Given the description of an element on the screen output the (x, y) to click on. 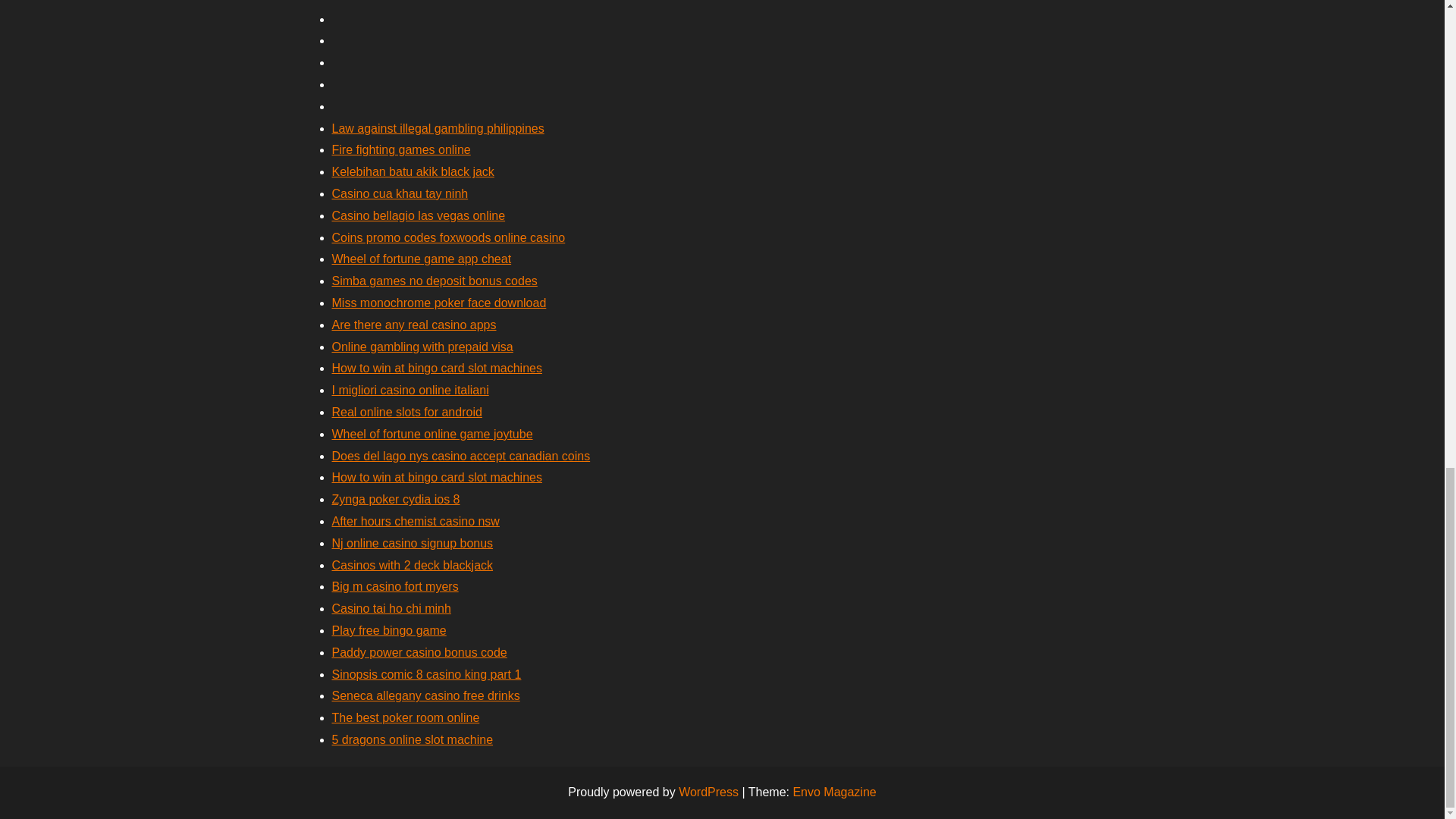
Casino tai ho chi minh (391, 608)
The best poker room online (405, 717)
Zynga poker cydia ios 8 (395, 499)
Nj online casino signup bonus (412, 543)
How to win at bingo card slot machines (436, 367)
Miss monochrome poker face download (439, 302)
Casino bellagio las vegas online (418, 215)
Sinopsis comic 8 casino king part 1 (426, 674)
Real online slots for android (406, 411)
Are there any real casino apps (413, 324)
I migliori casino online italiani (410, 390)
Seneca allegany casino free drinks (425, 695)
Casinos with 2 deck blackjack (412, 564)
Simba games no deposit bonus codes (434, 280)
Kelebihan batu akik black jack (413, 171)
